Given the description of an element on the screen output the (x, y) to click on. 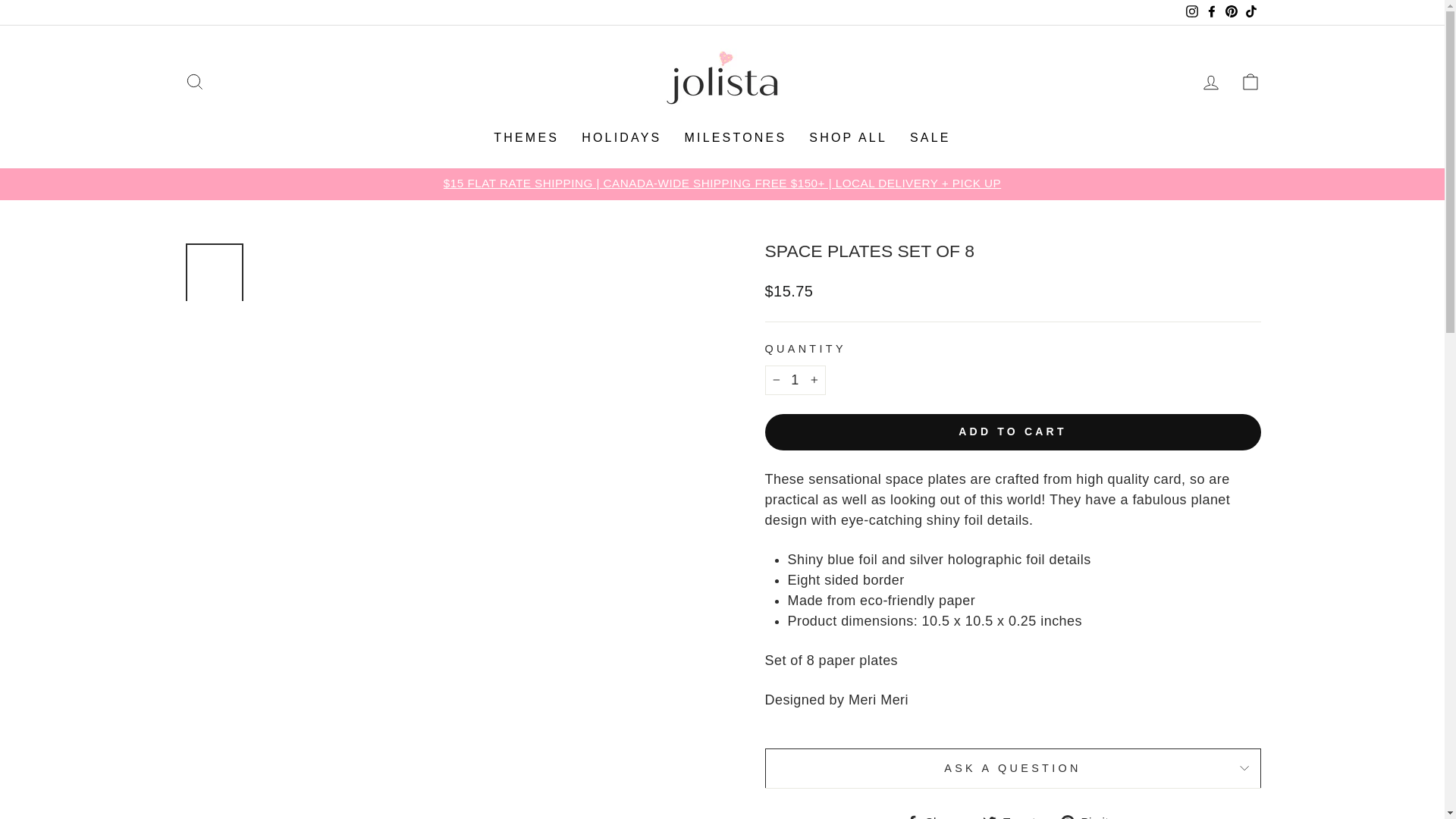
1 (794, 379)
Tweet on Twitter (1014, 815)
Pin on Pinterest (1090, 815)
Share on Facebook (937, 815)
